Given the description of an element on the screen output the (x, y) to click on. 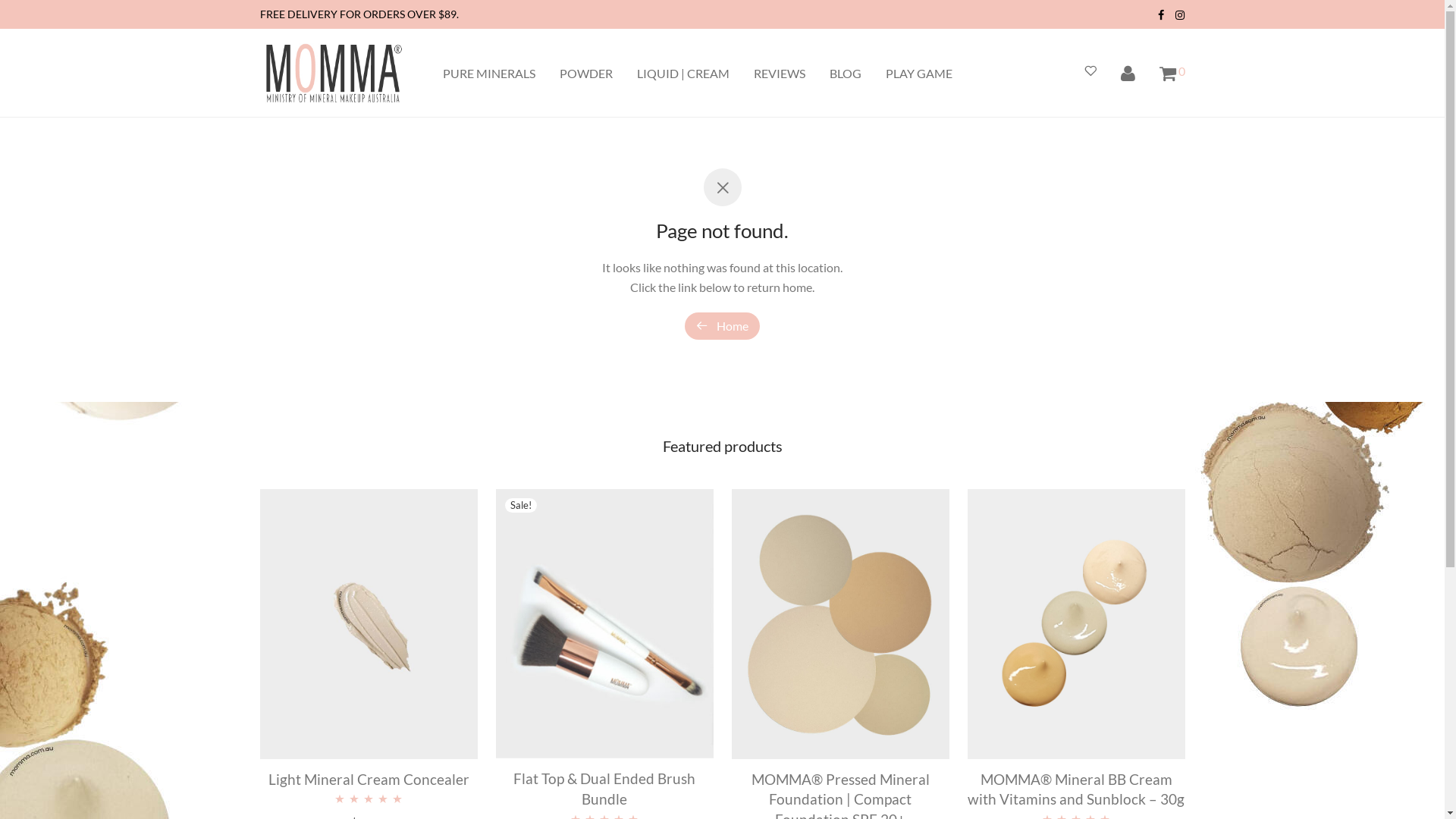
Instagram Element type: hover (1179, 13)
0 Element type: text (1171, 73)
Home Element type: text (721, 325)
Facebook Element type: hover (1160, 13)
POWDER Element type: text (585, 73)
Flat Top & Dual Ended Brush Bundle Element type: text (604, 788)
PLAY GAME Element type: text (918, 73)
LIQUID | CREAM Element type: text (682, 73)
Sale! Element type: text (604, 624)
PURE MINERALS Element type: text (488, 73)
BLOG Element type: text (845, 73)
REVIEWS Element type: text (779, 73)
Light Mineral Cream Concealer Element type: text (368, 778)
